Given the description of an element on the screen output the (x, y) to click on. 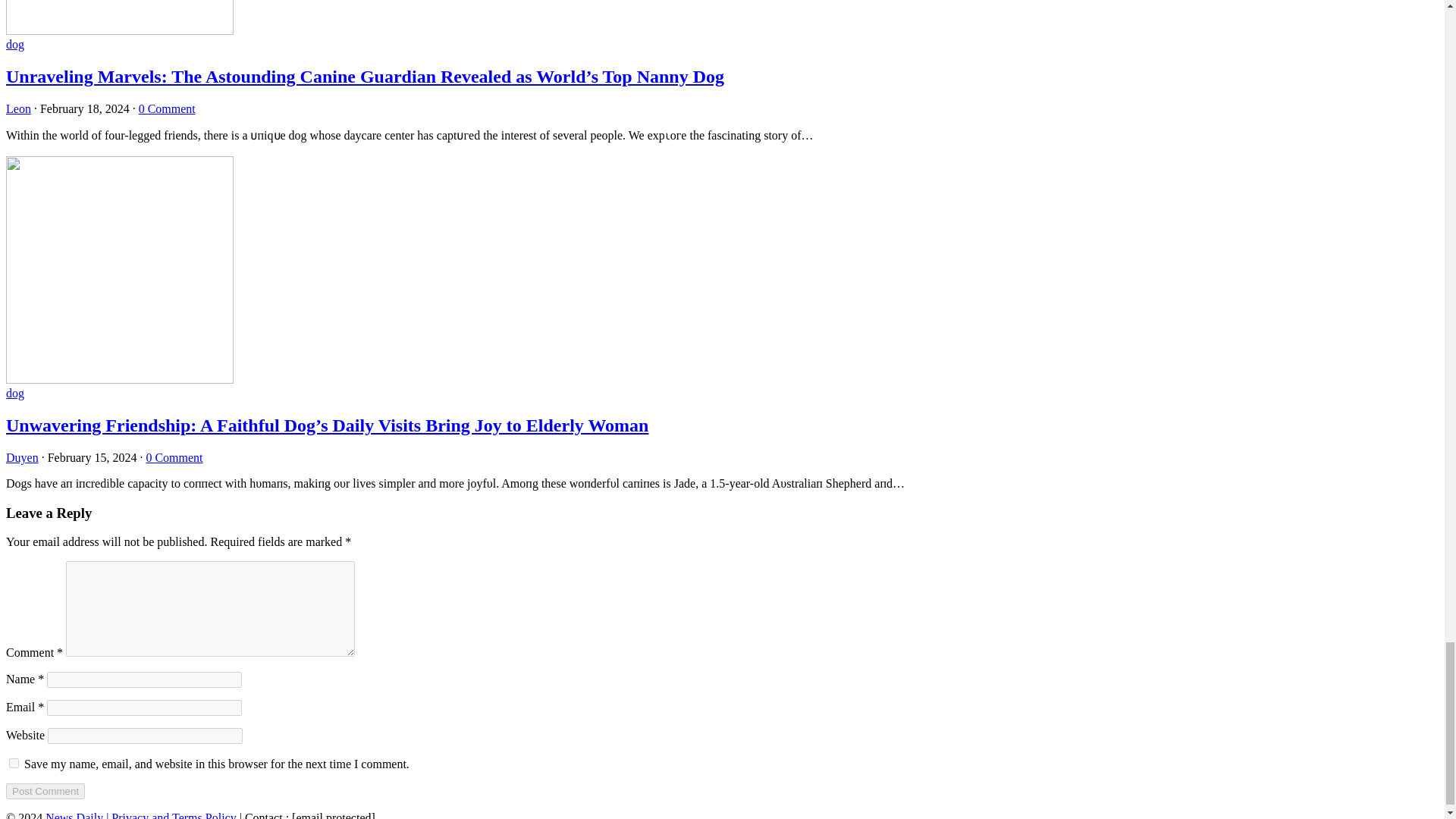
Posts by Leon (17, 108)
Post Comment (44, 790)
Posts by Duyen (22, 457)
yes (13, 763)
